Given the description of an element on the screen output the (x, y) to click on. 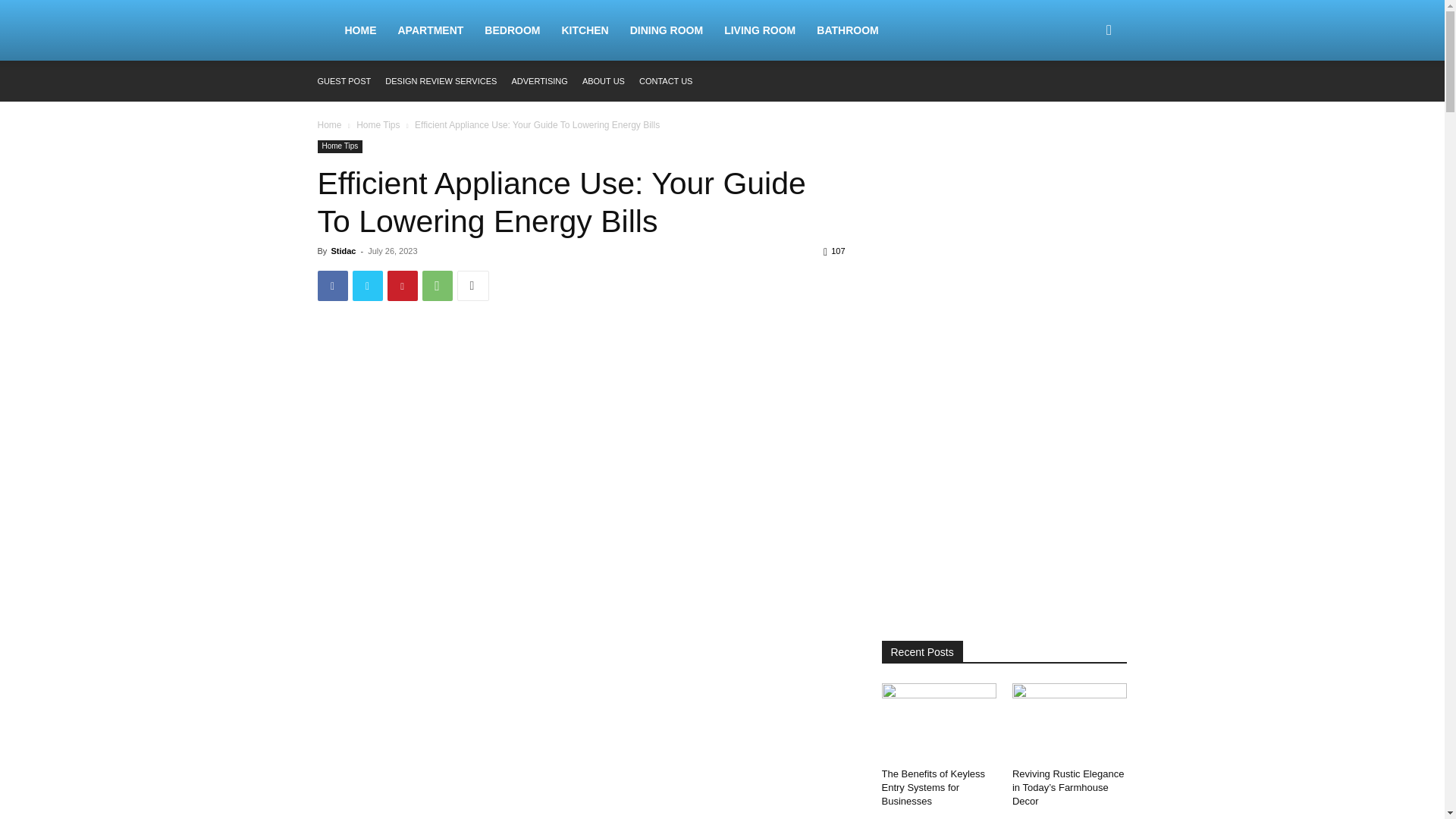
Twitter (366, 286)
GUEST POST (344, 80)
DESIGN REVIEW SERVICES (440, 80)
Search (1085, 102)
Stidac (342, 250)
BEDROOM (512, 30)
LIVING ROOM (759, 30)
ABOUT US (603, 80)
More (472, 286)
KITCHEN (584, 30)
Home Tips (377, 124)
Pinterest (401, 286)
Facebook (332, 286)
APARTMENT (430, 30)
